Given the description of an element on the screen output the (x, y) to click on. 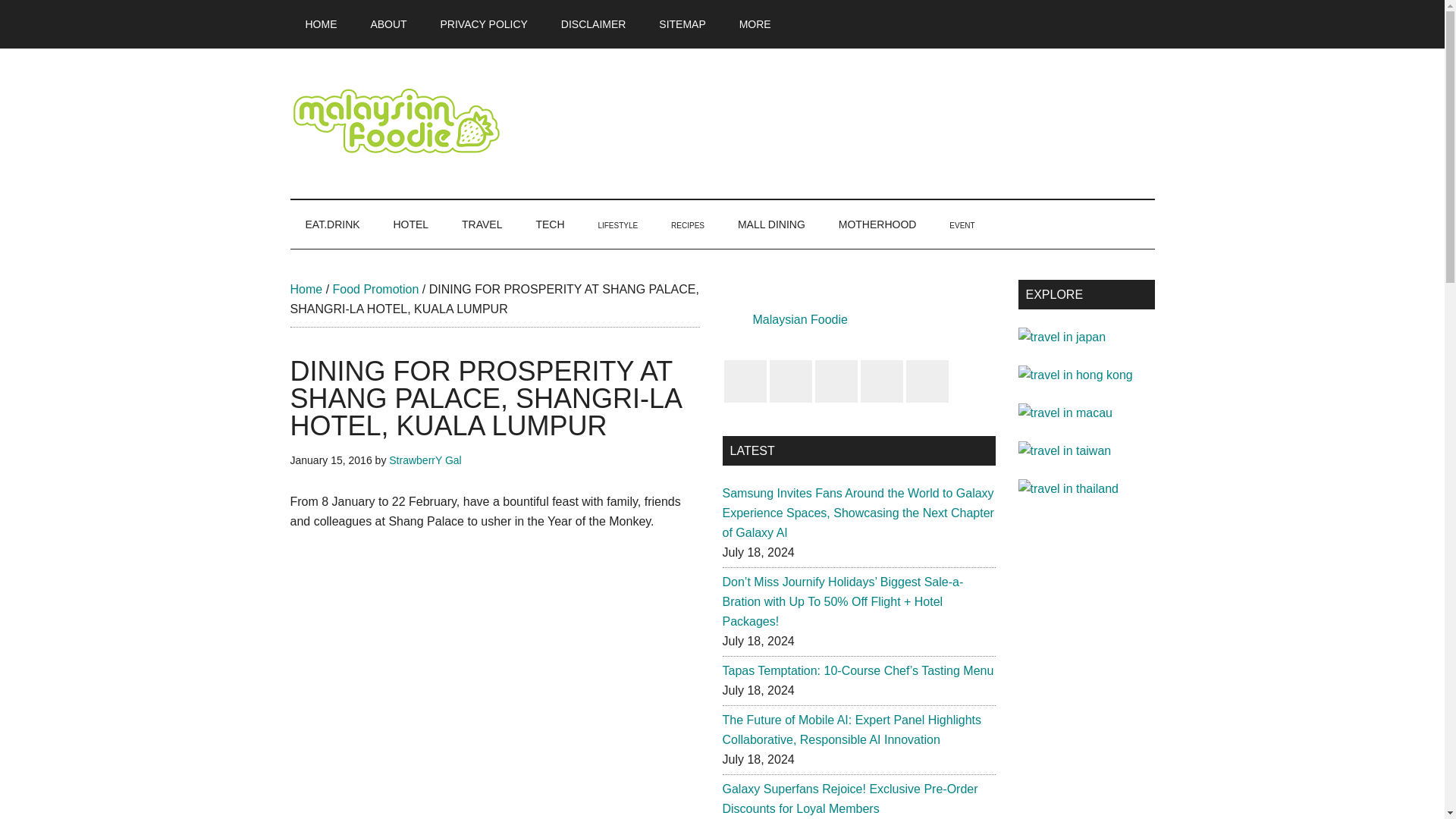
PRIVACY POLICY (484, 24)
HOME (320, 24)
DISCLAIMER (594, 24)
MORE (754, 24)
ABOUT (388, 24)
SITEMAP (681, 24)
EAT.DRINK (331, 223)
